Given the description of an element on the screen output the (x, y) to click on. 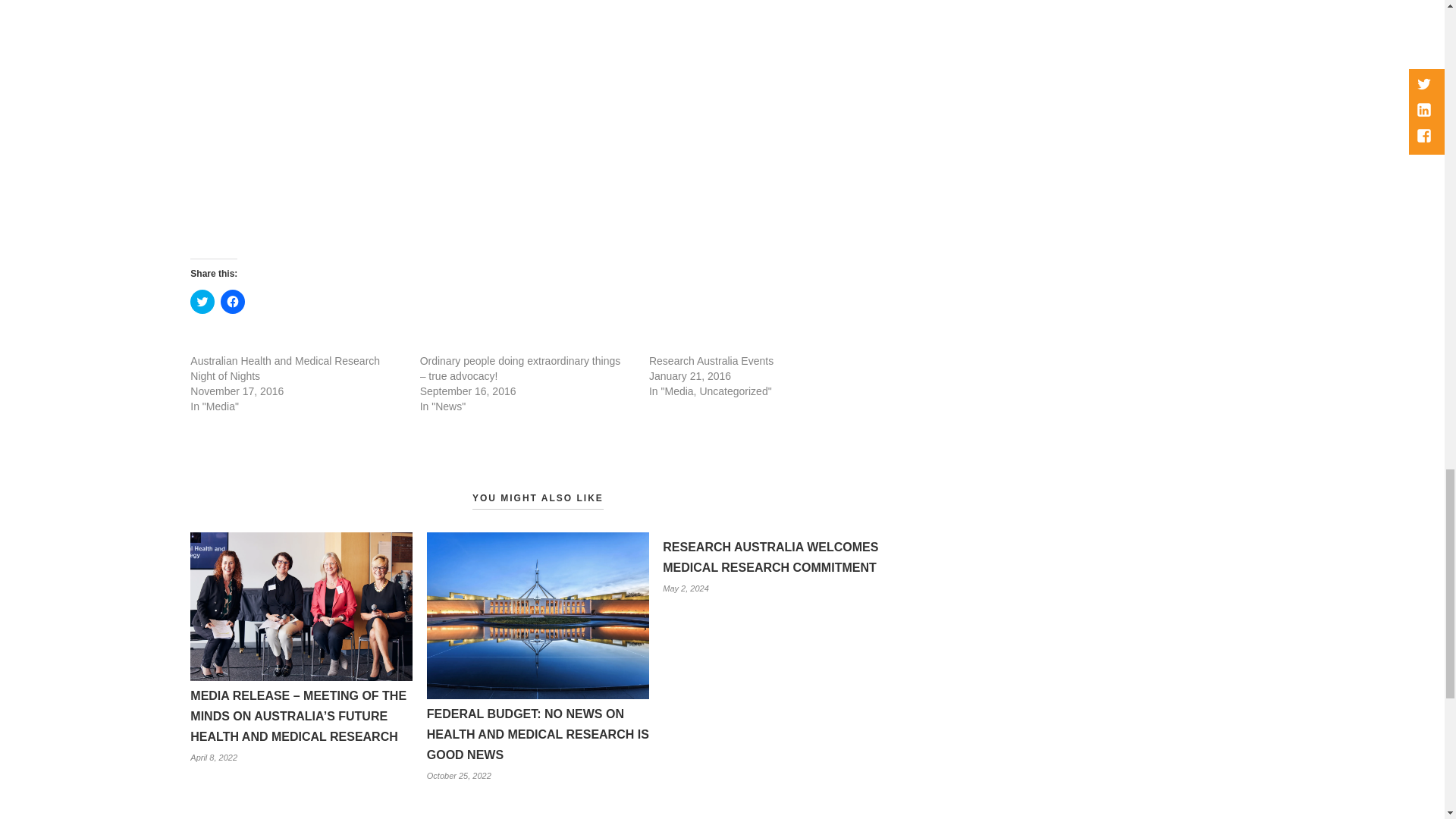
Click to share on Twitter (202, 301)
Australian Health and Medical Research Night of Nights (285, 368)
Research Australia Events (711, 360)
Click to share on Facebook (232, 301)
